Given the description of an element on the screen output the (x, y) to click on. 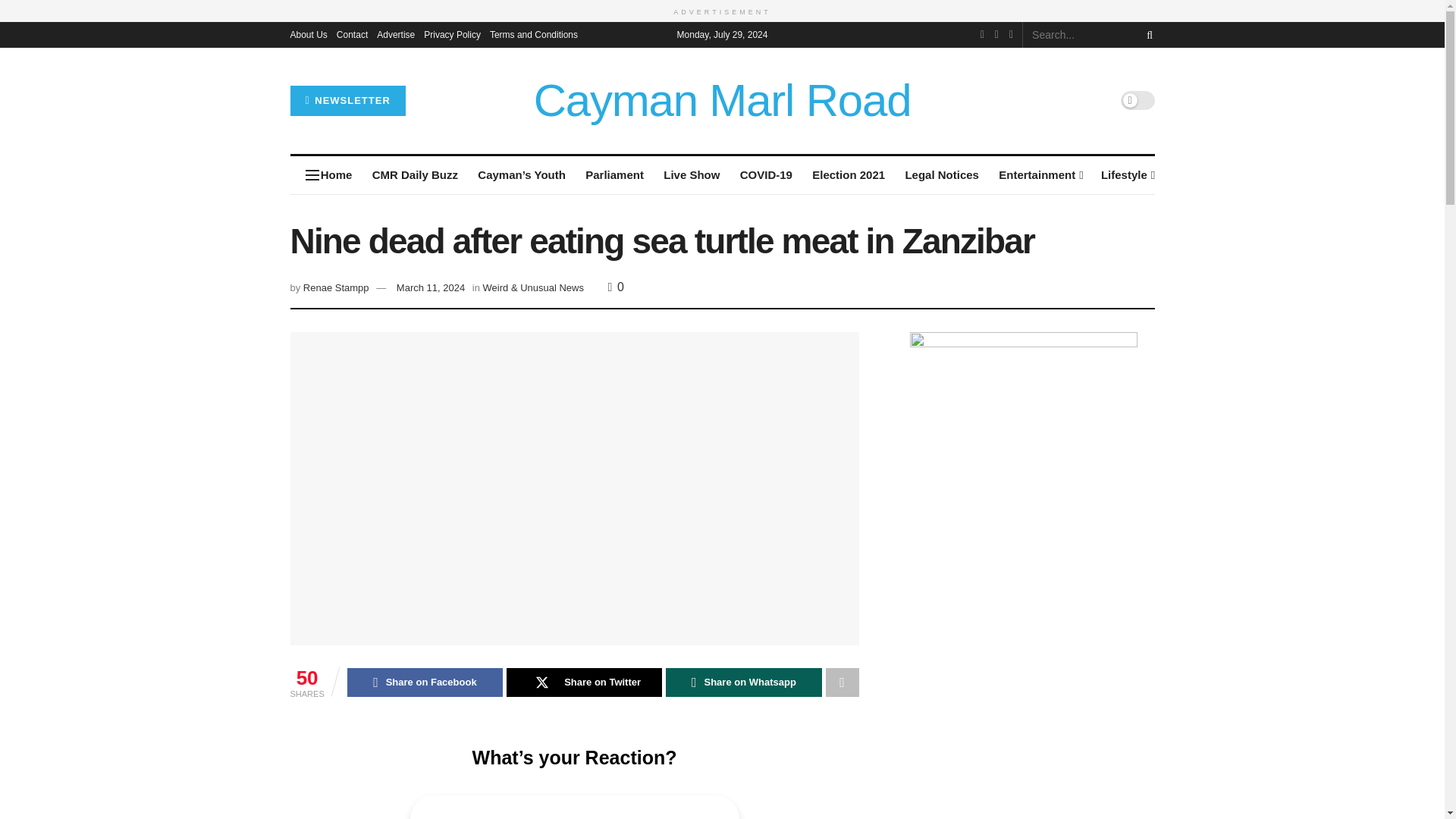
Advertise (395, 33)
Parliament (614, 175)
Terms and Conditions (533, 33)
NEWSLETTER (346, 100)
CMR Daily Buzz (414, 175)
Legal Notices (940, 175)
Election 2021 (848, 175)
Home (335, 175)
COVID-19 (766, 175)
Cayman Marl Road (722, 99)
About Us (307, 33)
Entertainment (1040, 175)
Live Show (692, 175)
Contact (352, 33)
Privacy Policy (451, 33)
